Given the description of an element on the screen output the (x, y) to click on. 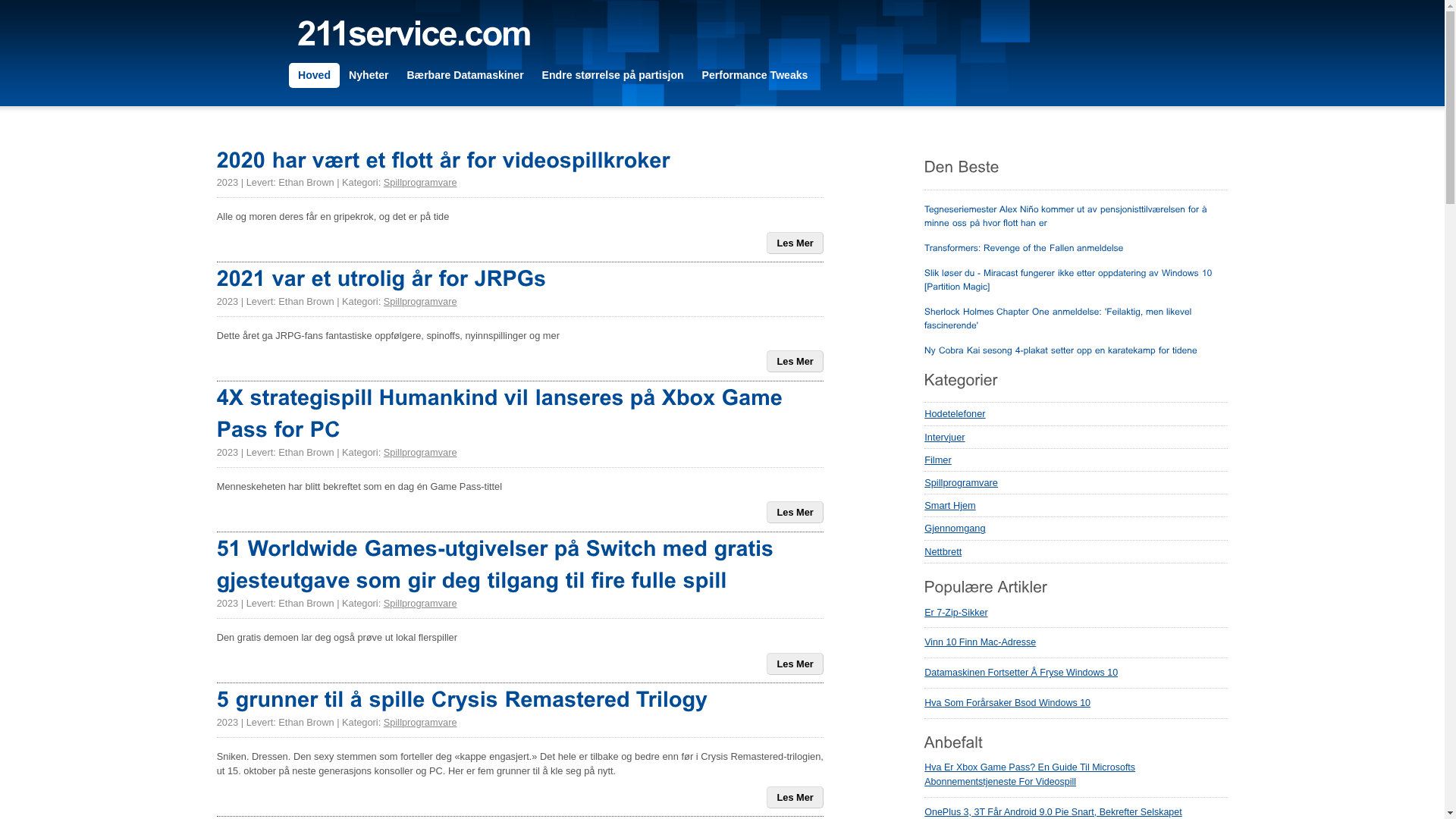
Nettbrett Element type: text (1075, 551)
Spillprogramvare Element type: text (1075, 482)
Les Mer Element type: text (794, 512)
Vinn 10 Finn Mac-Adresse Element type: text (979, 642)
Performance Tweaks Element type: text (755, 74)
Er 7-Zip-Sikker Element type: text (955, 612)
Hodetelefoner Element type: text (1075, 413)
Intervjuer Element type: text (1075, 437)
Smart Hjem Element type: text (1075, 505)
Filmer Element type: text (1075, 459)
Gjennomgang Element type: text (1075, 528)
Spillprogramvare Element type: text (420, 602)
Spillprogramvare Element type: text (420, 301)
Les Mer Element type: text (794, 663)
Spillprogramvare Element type: text (420, 182)
Nyheter Element type: text (368, 74)
Spillprogramvare Element type: text (420, 452)
Les Mer Element type: text (794, 361)
Hoved Element type: text (313, 74)
Les Mer Element type: text (794, 243)
Les Mer Element type: text (794, 796)
Spillprogramvare Element type: text (420, 722)
